Given the description of an element on the screen output the (x, y) to click on. 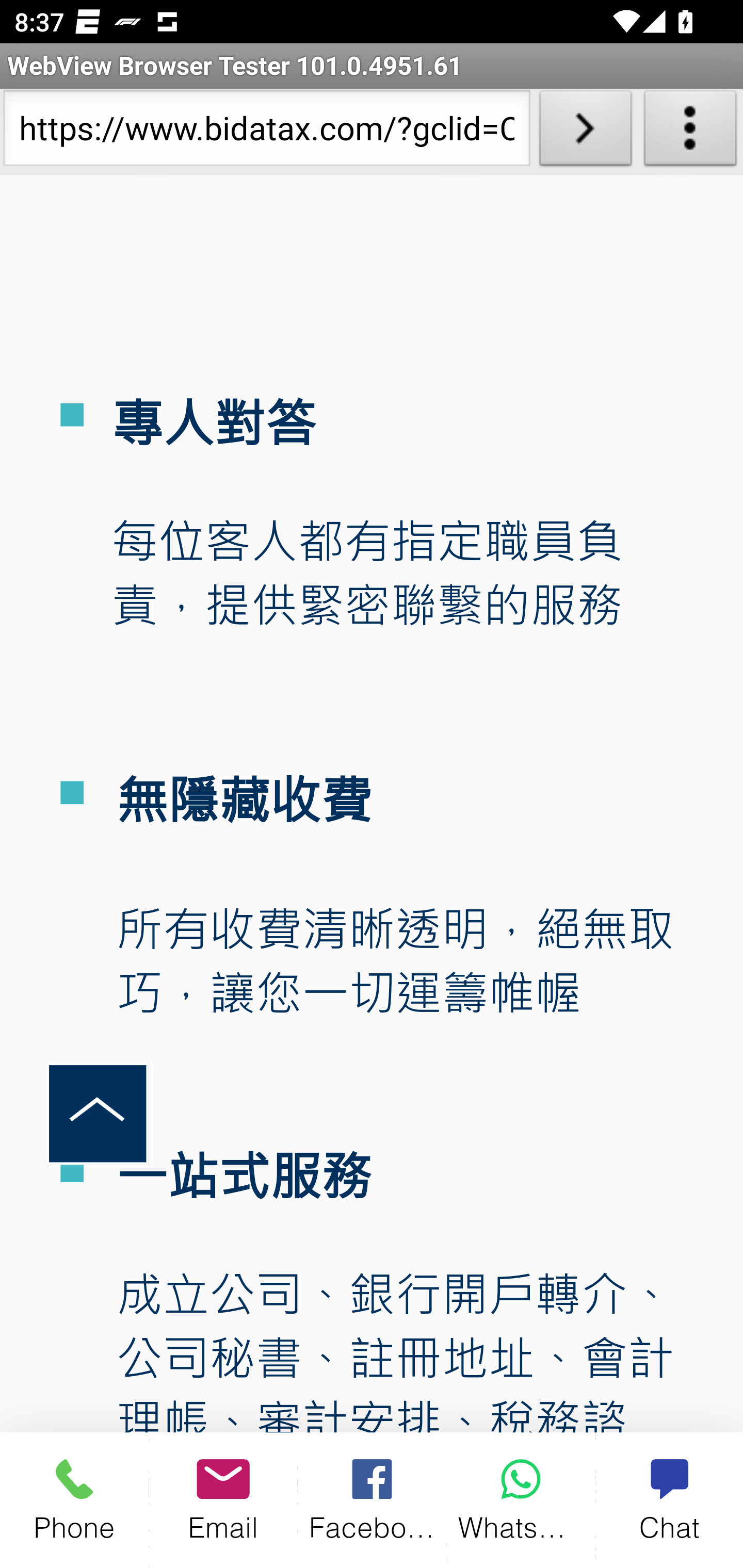
Load URL (585, 132)
About WebView (690, 132)
Phone (74, 1499)
Email (222, 1499)
Facebook (372, 1499)
WhatsApp (520, 1499)
Chat (669, 1499)
